Given the description of an element on the screen output the (x, y) to click on. 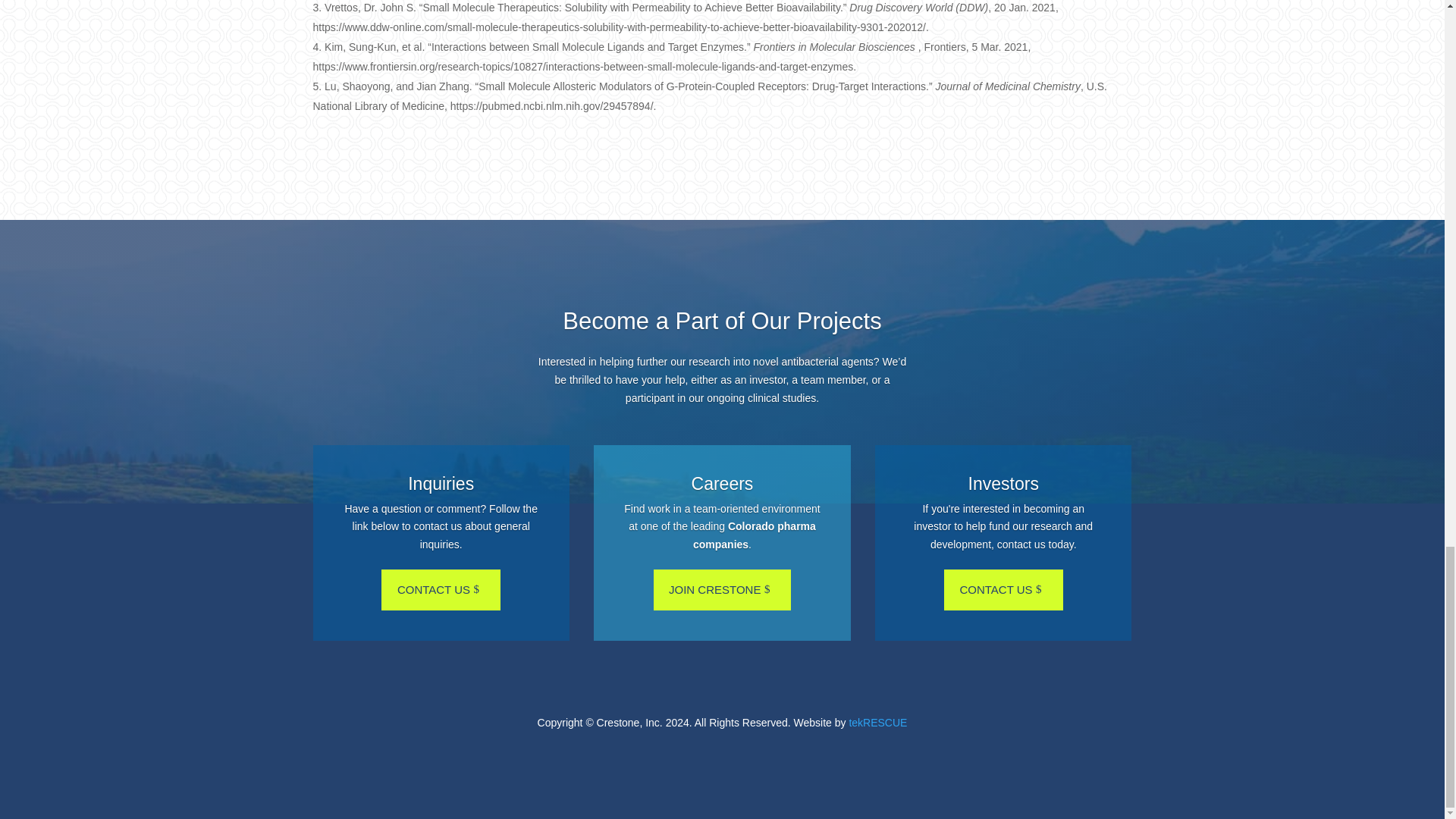
CONTACT US (1002, 589)
CONTACT US (440, 589)
JOIN CRESTONE (722, 589)
tekRESCUE (877, 722)
